Given the description of an element on the screen output the (x, y) to click on. 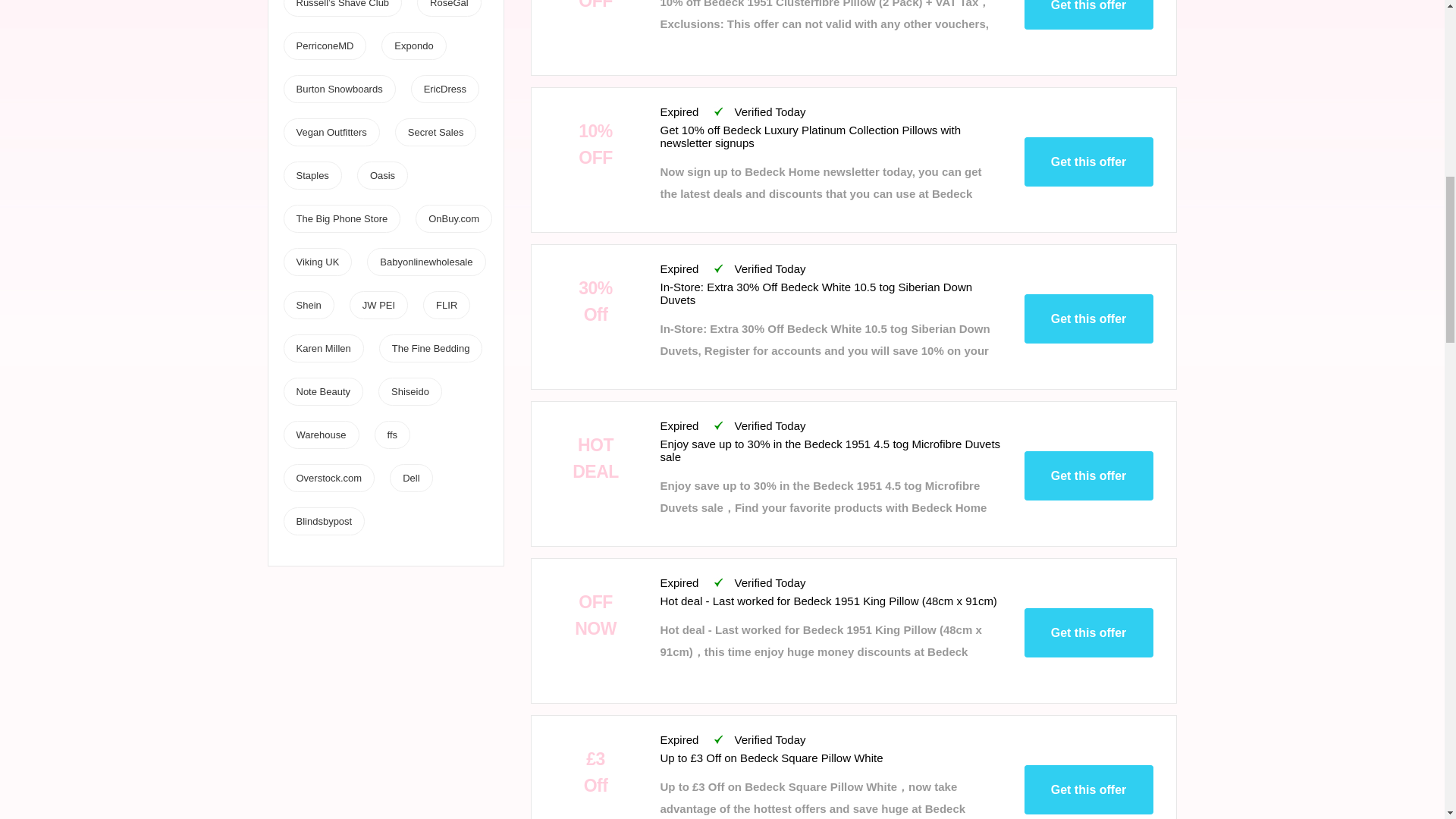
Shein (307, 305)
Secret Sales (435, 132)
Shiseido (410, 391)
Viking UK (317, 261)
Overstock.com (328, 478)
PerriconeMD (324, 45)
EricDress (444, 89)
ffs (392, 434)
Burton Snowboards (338, 89)
Warehouse (320, 434)
Note Beauty (322, 391)
The Big Phone Store (341, 218)
FLIR (446, 305)
RoseGal (448, 4)
Expondo (413, 45)
